Given the description of an element on the screen output the (x, y) to click on. 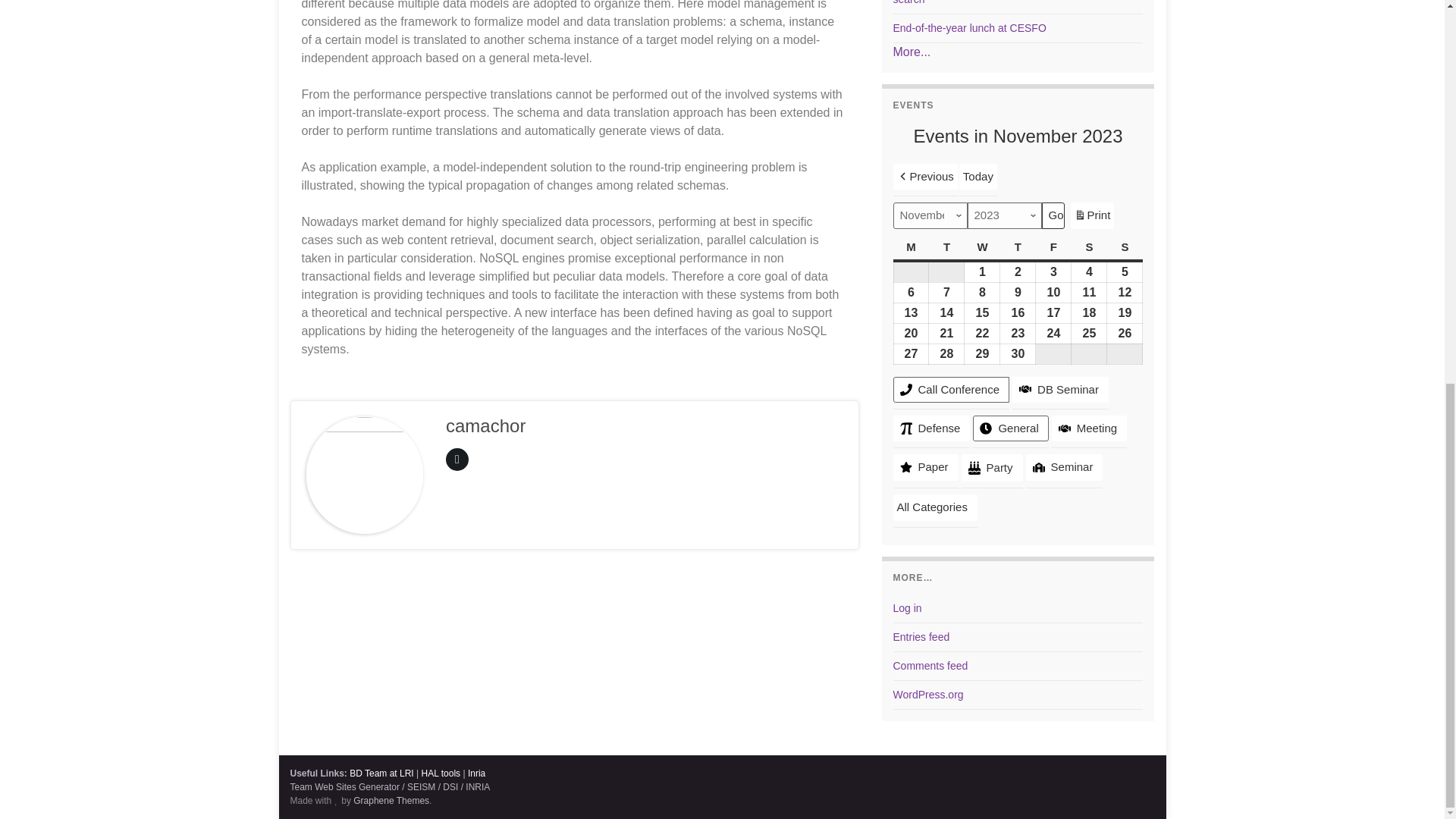
Previous (925, 176)
End-of-the-year lunch at CESFO (969, 28)
More... (912, 51)
Today (978, 176)
